Given the description of an element on the screen output the (x, y) to click on. 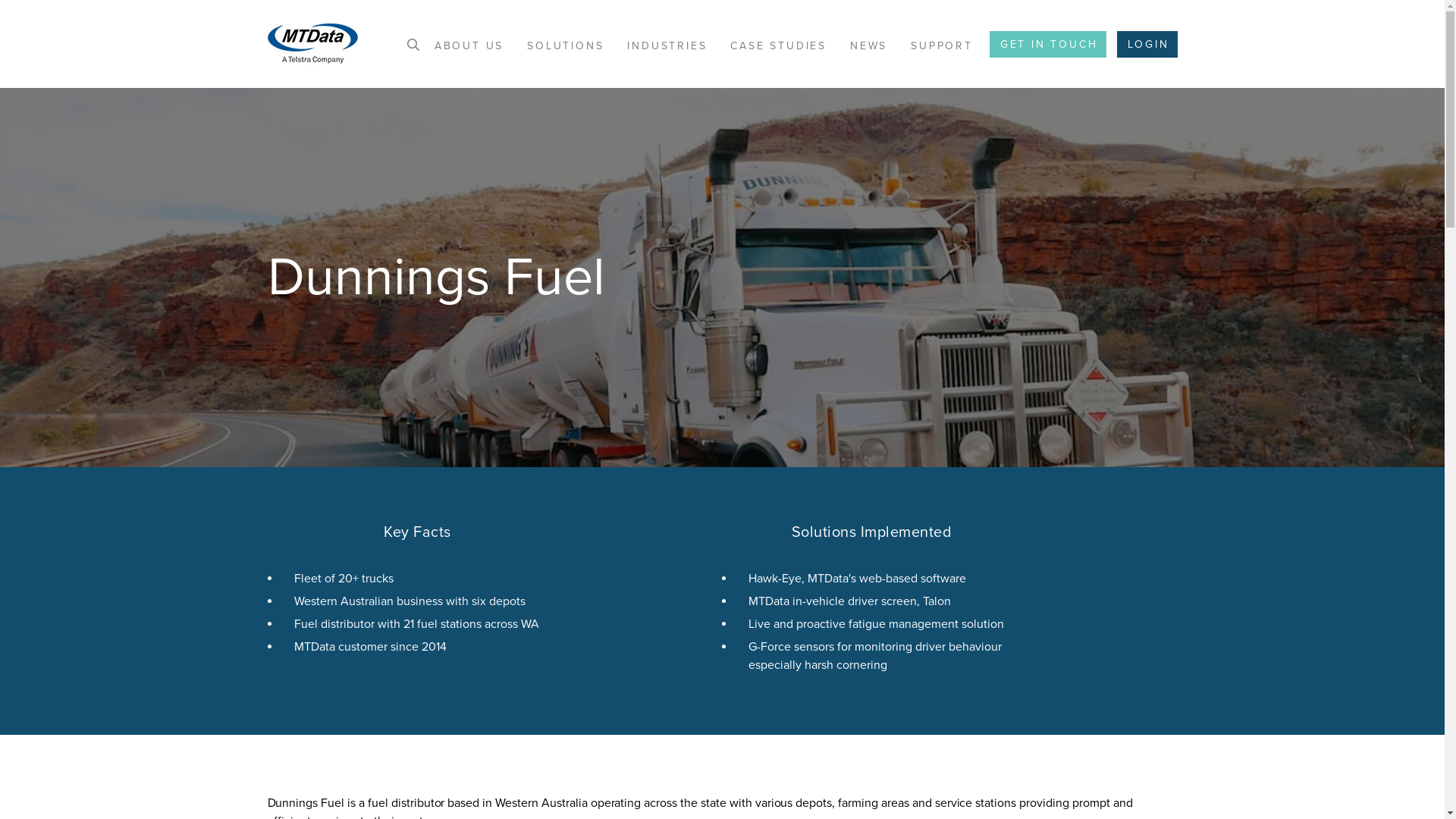
LOGIN Element type: text (1146, 44)
ABOUT US Element type: text (468, 45)
SOLUTIONS Element type: text (565, 45)
CASE STUDIES Element type: text (778, 45)
NEWS Element type: text (868, 45)
MTData Element type: hover (311, 43)
GET IN TOUCH Element type: text (1047, 44)
INDUSTRIES Element type: text (666, 45)
SUPPORT Element type: text (941, 45)
